Given the description of an element on the screen output the (x, y) to click on. 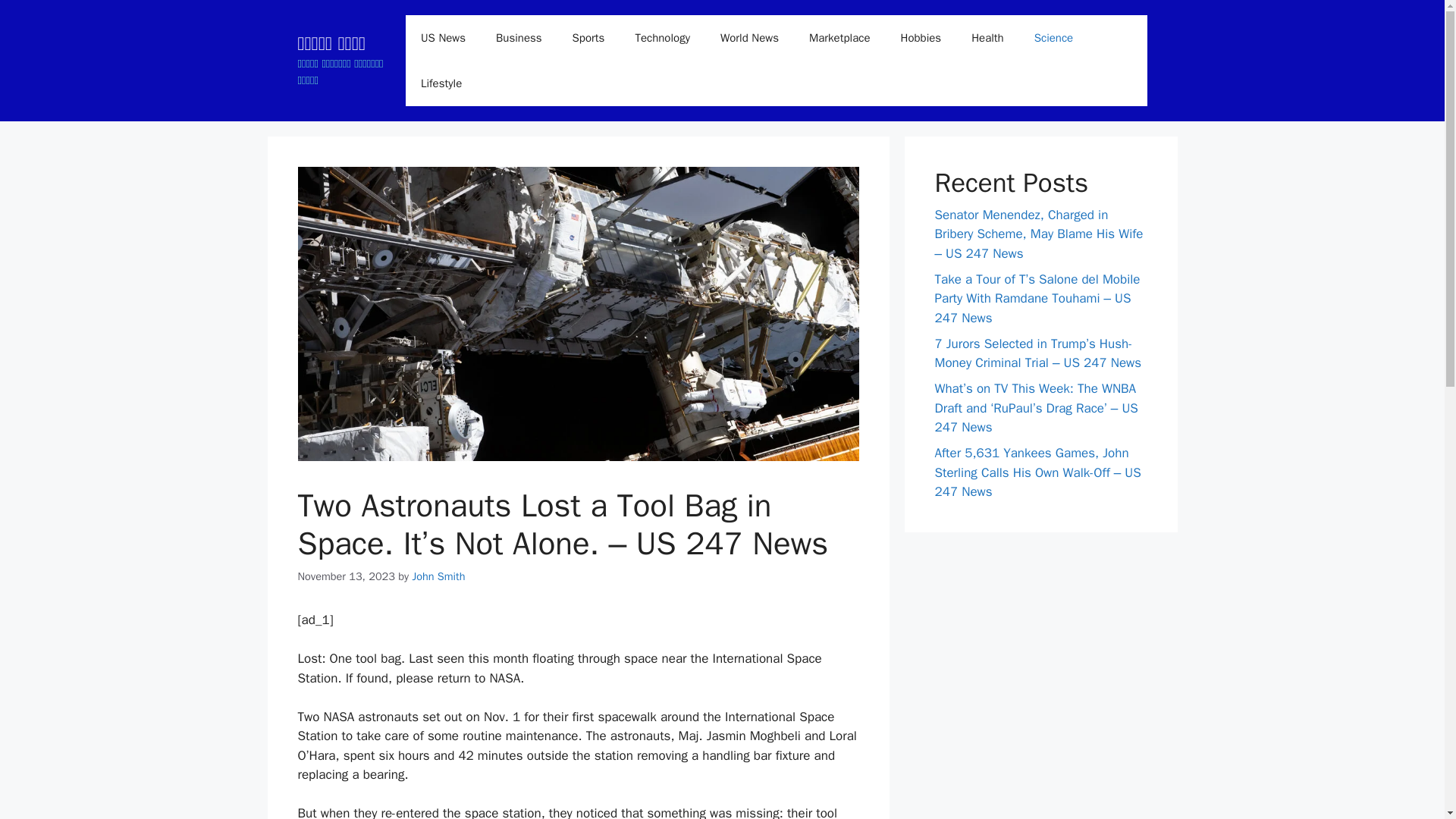
Hobbies (920, 37)
John Smith (438, 576)
Sports (588, 37)
US News (443, 37)
View all posts by John Smith (438, 576)
World News (748, 37)
Technology (662, 37)
Business (518, 37)
Marketplace (839, 37)
Health (987, 37)
